Given the description of an element on the screen output the (x, y) to click on. 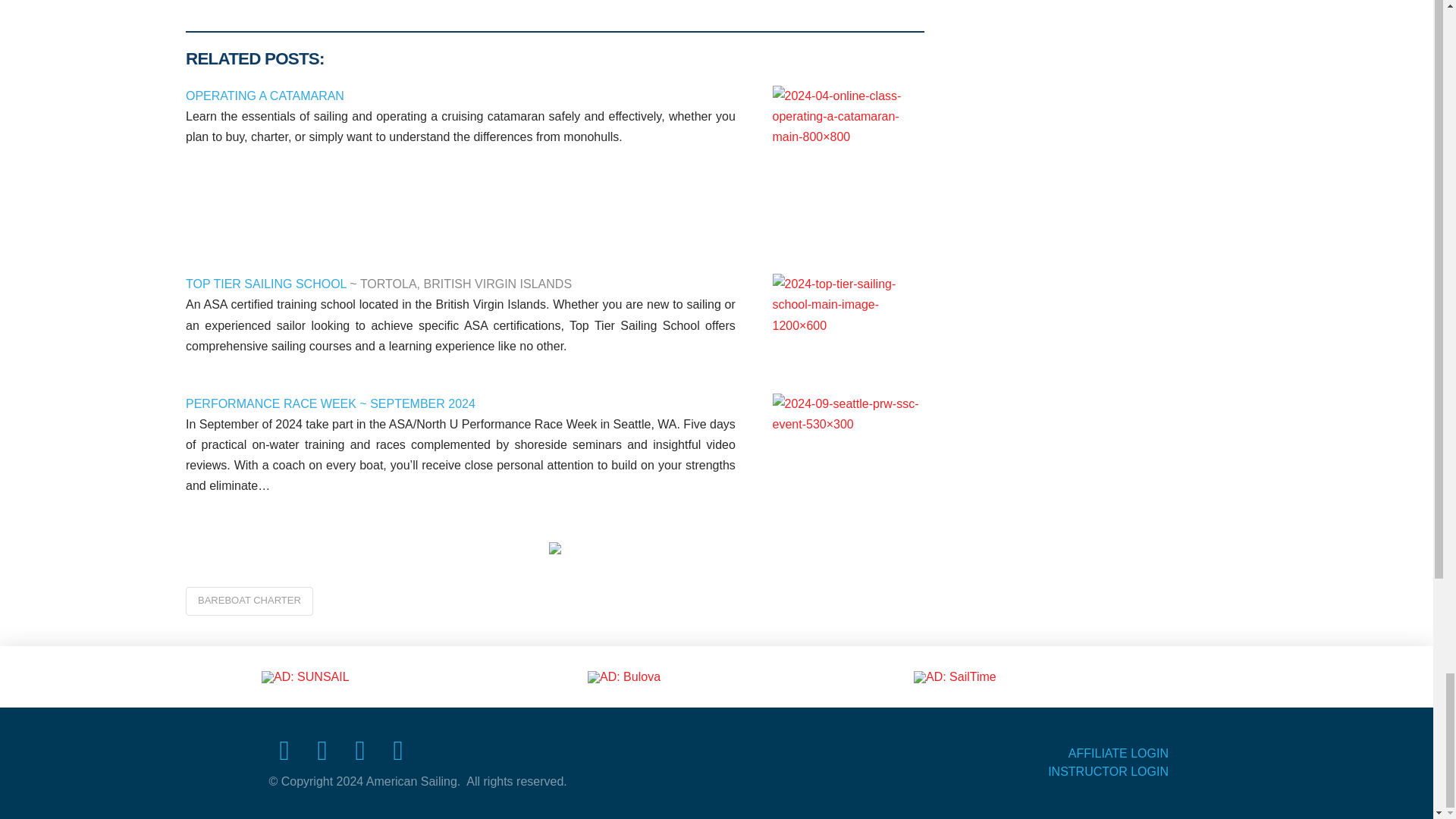
2024 PRW Seattle (848, 436)
Top Tier Sailing School (848, 311)
Operating A Catamaran (848, 161)
